Given the description of an element on the screen output the (x, y) to click on. 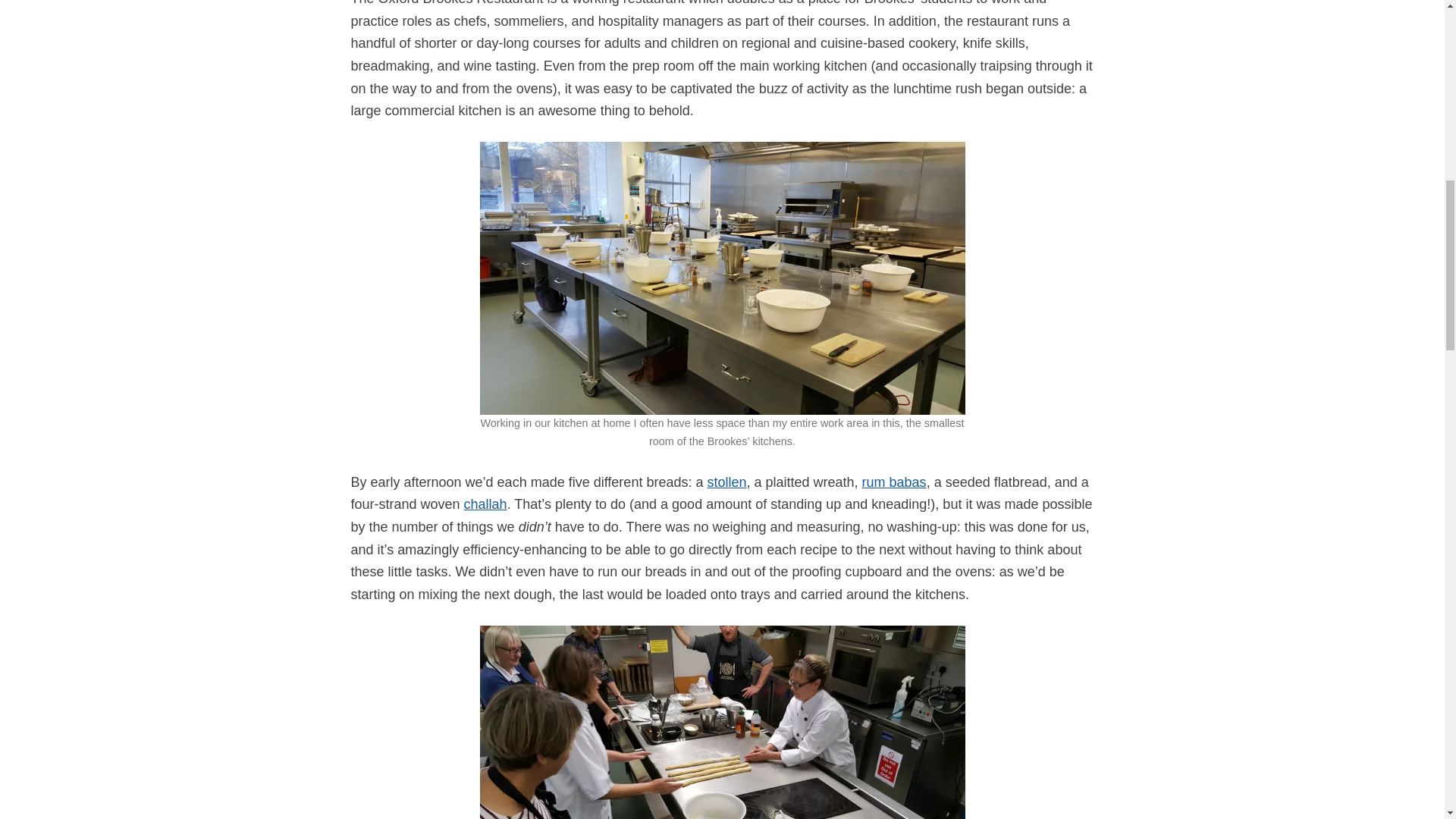
rum babas (893, 482)
stollen (725, 482)
challah (485, 503)
